Given the description of an element on the screen output the (x, y) to click on. 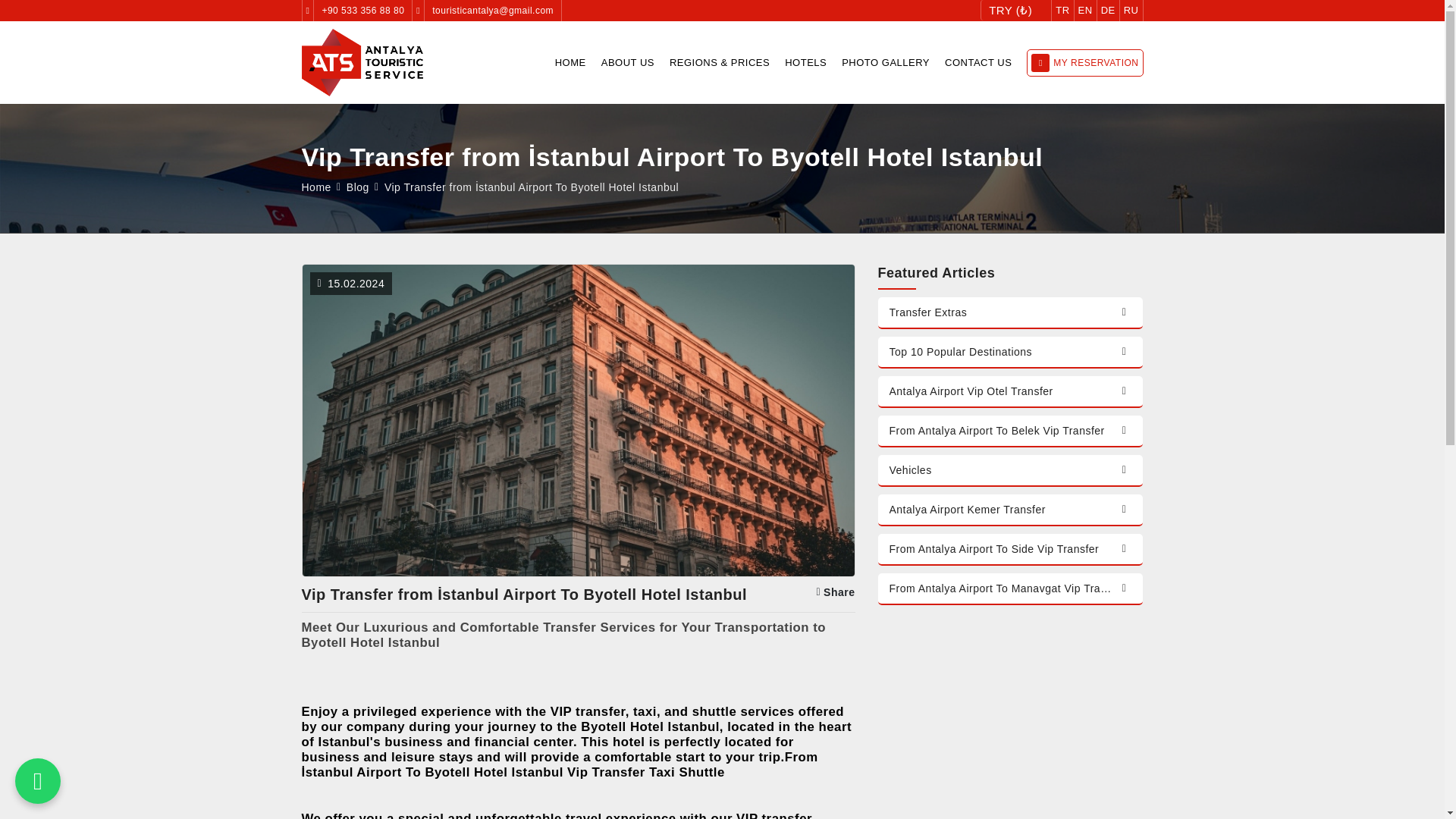
Top 10 Popular Destinations (1009, 352)
Blog (357, 186)
Antalya Airport Kemer Transfer (1009, 510)
From Antalya Airport To Belek Vip Transfer (1009, 431)
PHOTO GALLERY (885, 61)
HOME (570, 61)
HOTELS (805, 61)
RU (1130, 10)
Transfer Extras (1009, 313)
